Given the description of an element on the screen output the (x, y) to click on. 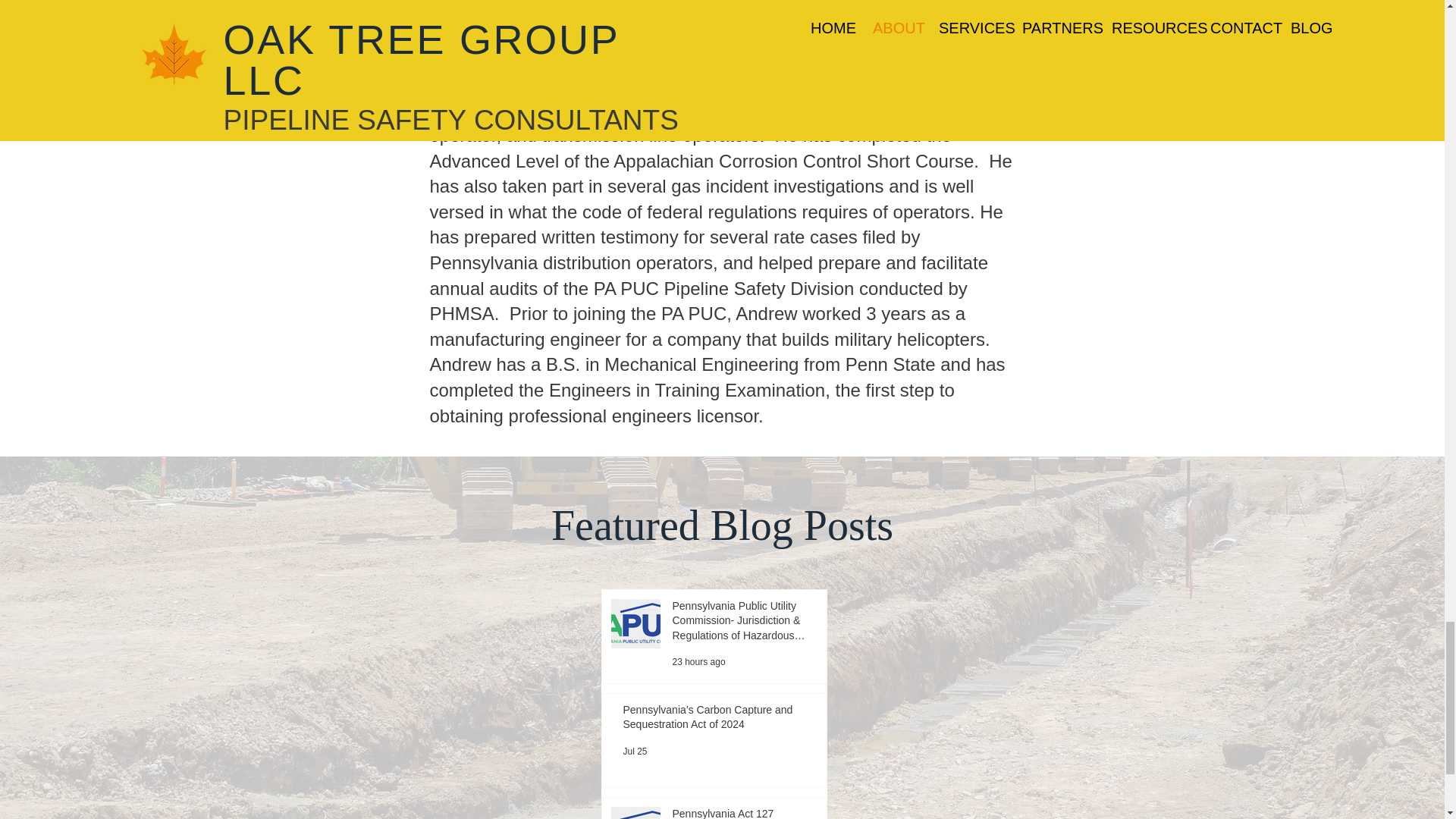
Jul 25 (635, 751)
23 hours ago (698, 661)
